Given the description of an element on the screen output the (x, y) to click on. 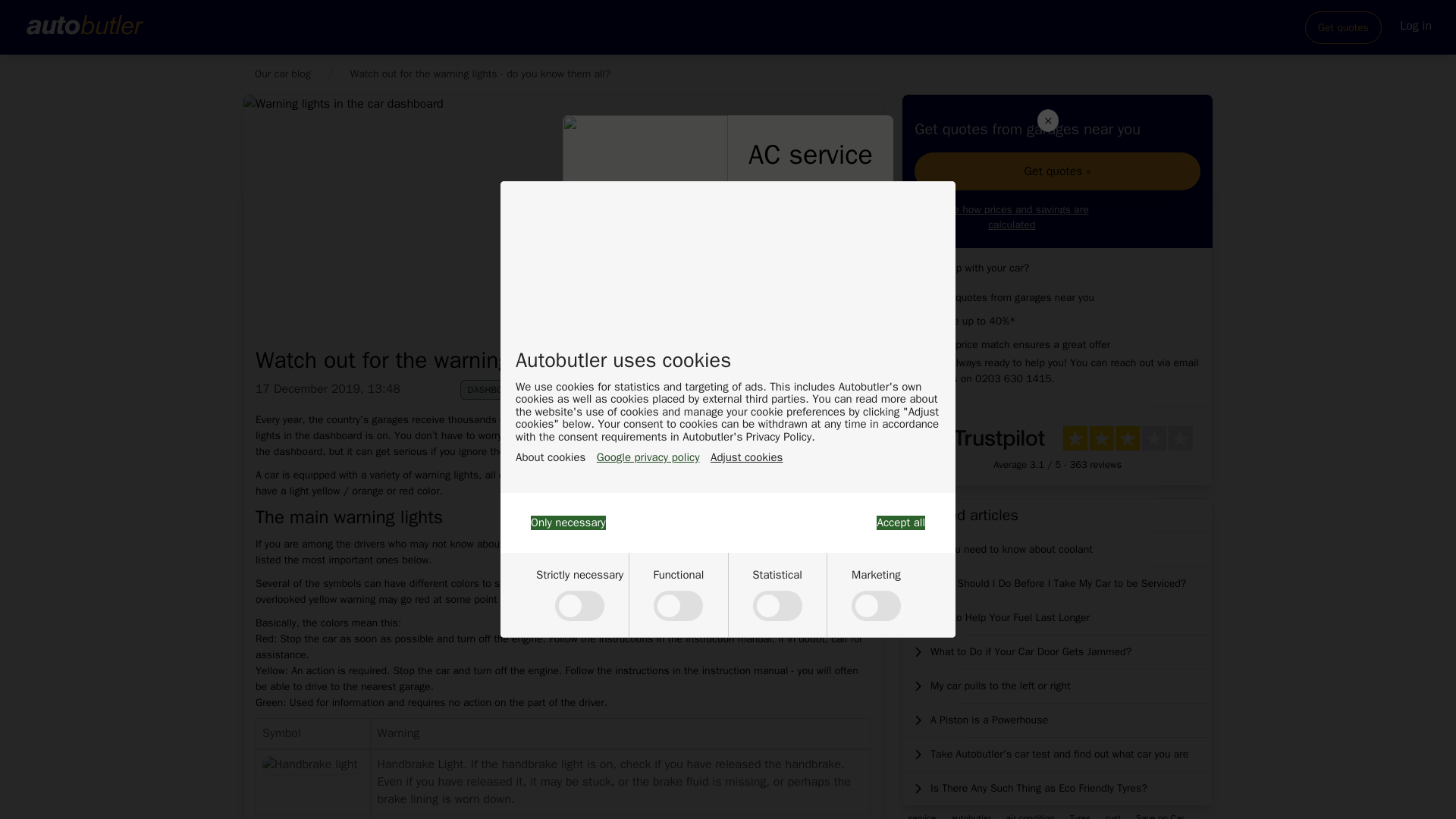
Google privacy policy (648, 457)
About cookies (550, 457)
Only necessary (568, 522)
Adjust cookies (746, 457)
Accept all (900, 522)
